Given the description of an element on the screen output the (x, y) to click on. 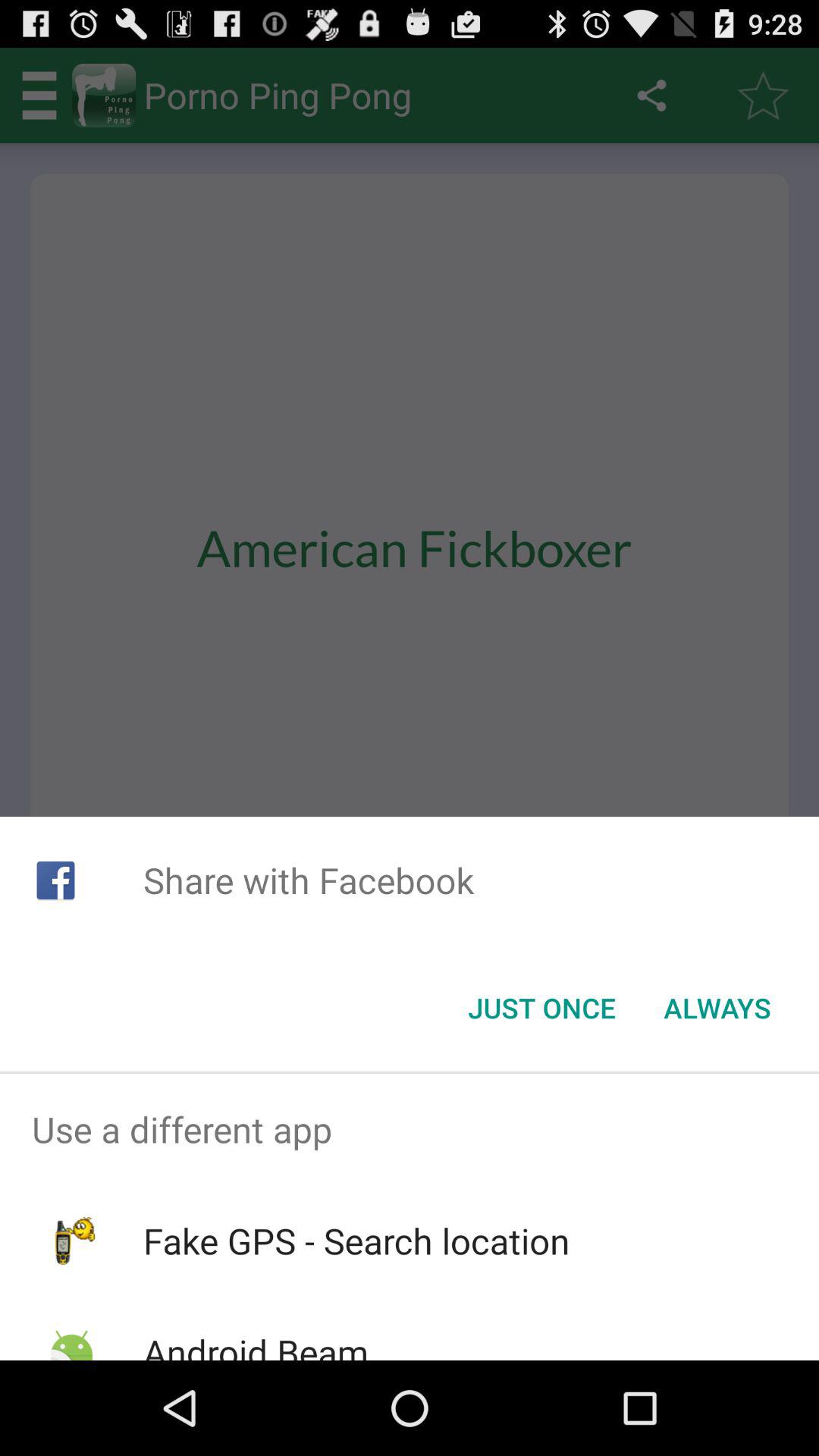
select item to the right of the just once icon (717, 1007)
